Given the description of an element on the screen output the (x, y) to click on. 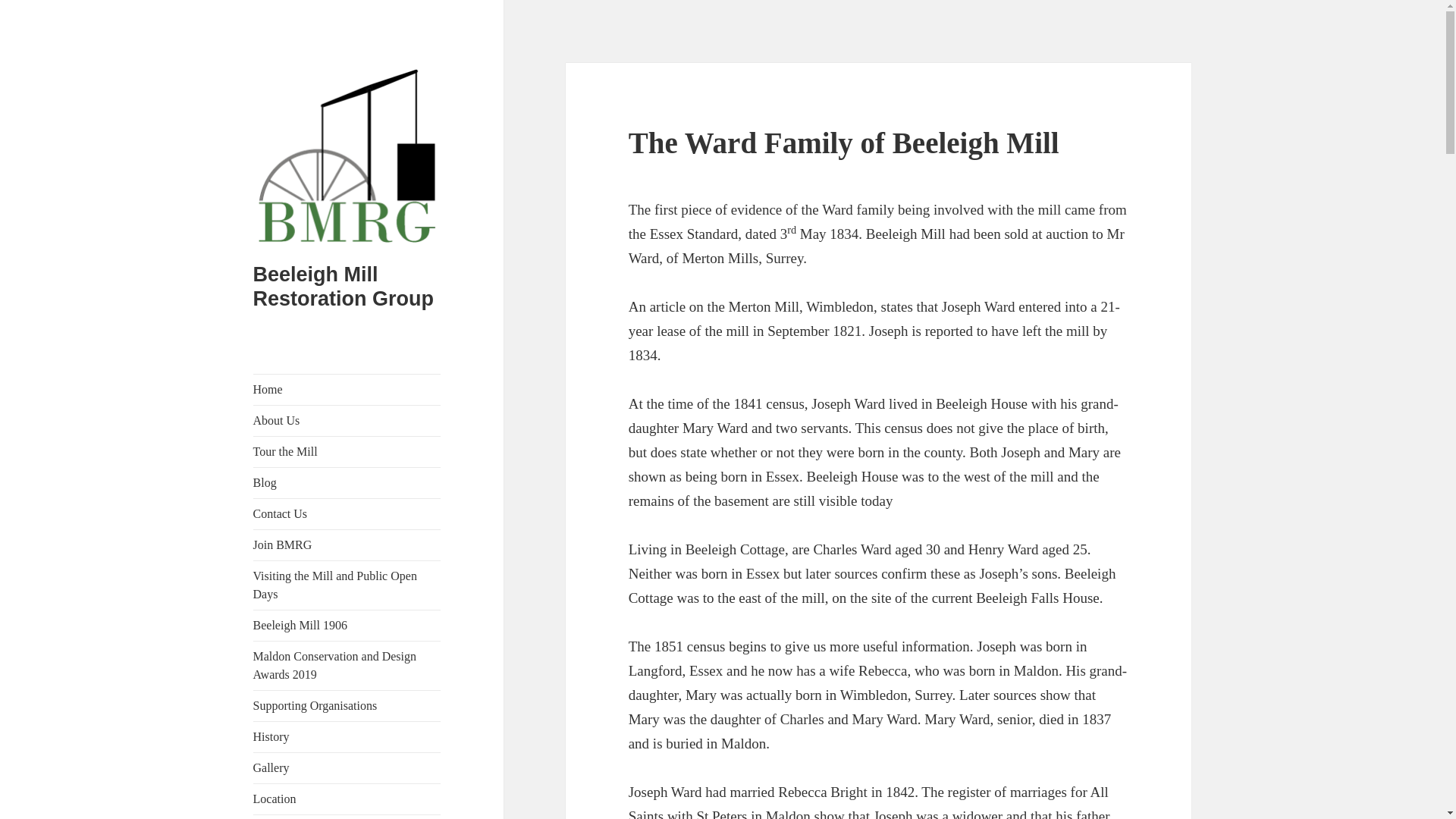
Gallery (347, 767)
Home (347, 389)
Glossary (347, 816)
Join BMRG (347, 544)
Beeleigh Mill Restoration Group (343, 286)
Tour the Mill (347, 451)
Visiting the Mill and Public Open Days (347, 585)
Maldon Conservation and Design Awards 2019 (347, 665)
History (347, 736)
Contact Us (347, 513)
Location (347, 798)
About Us (347, 420)
Beeleigh Mill 1906 (347, 625)
Supporting Organisations (347, 706)
Blog (347, 482)
